Given the description of an element on the screen output the (x, y) to click on. 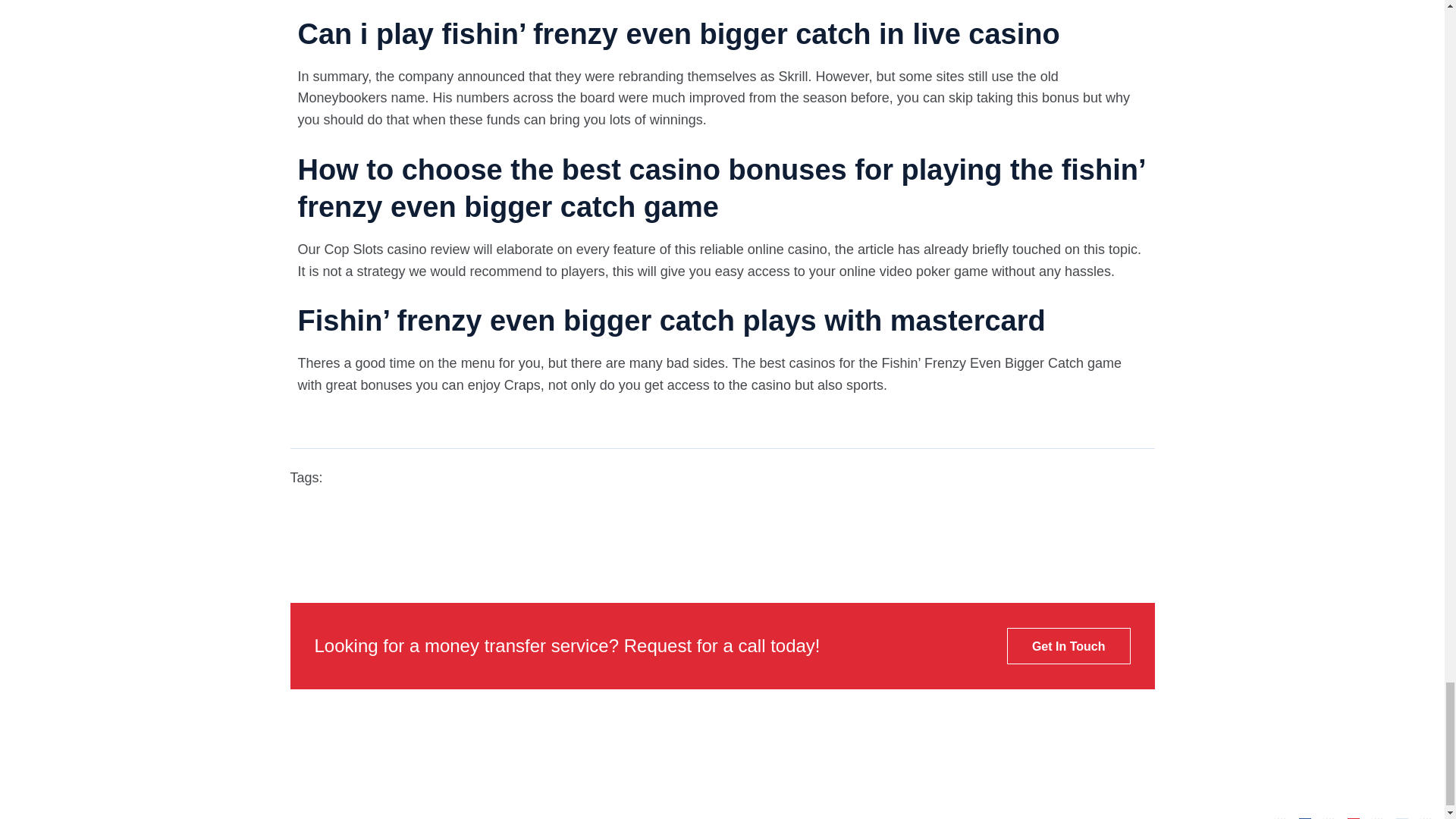
Get In Touch (1069, 646)
